Given the description of an element on the screen output the (x, y) to click on. 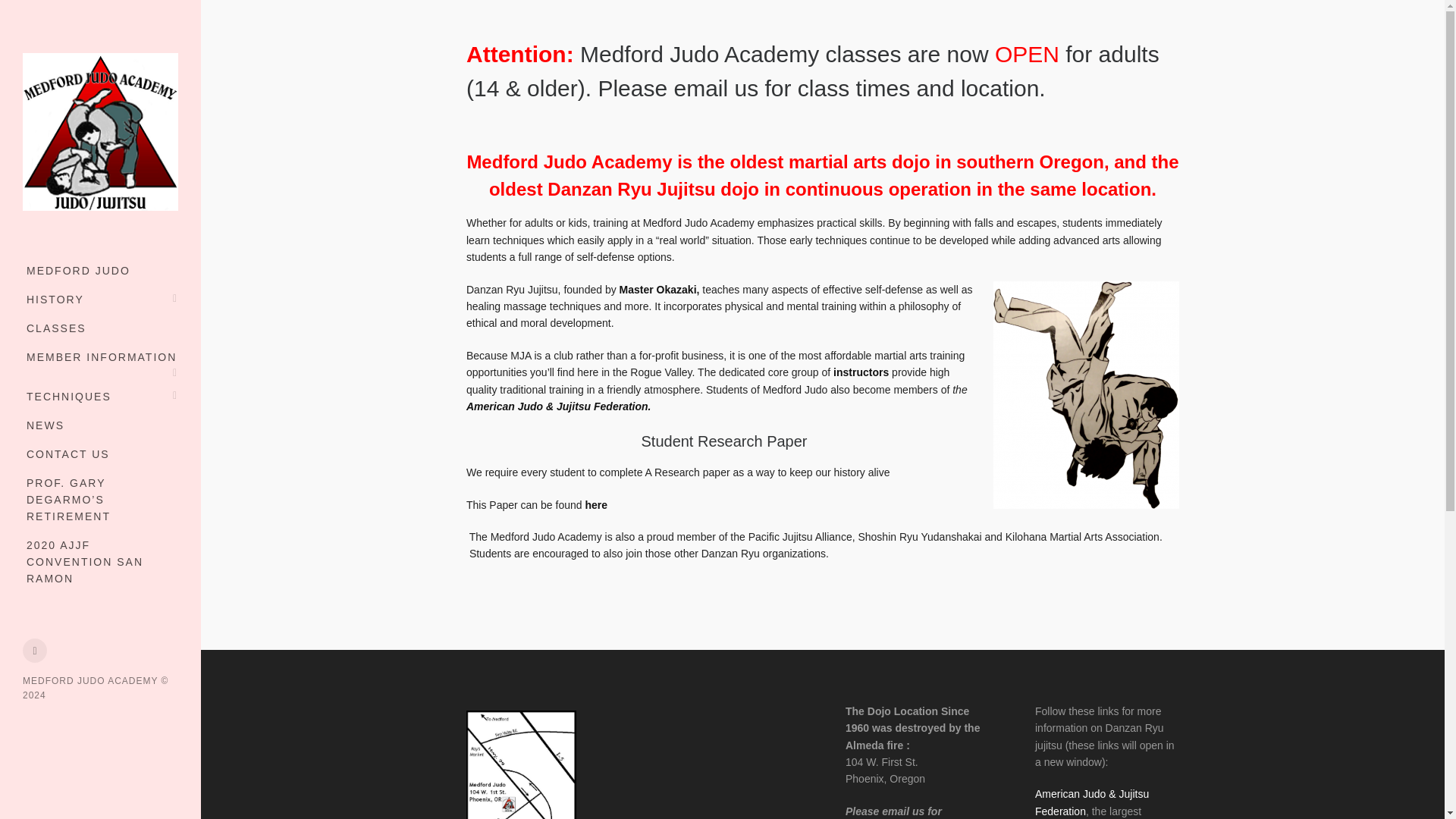
CLASSES (100, 328)
MEDFORD JUDO (100, 270)
MEMBER INFORMATION (100, 357)
HISTORY (100, 299)
